Given the description of an element on the screen output the (x, y) to click on. 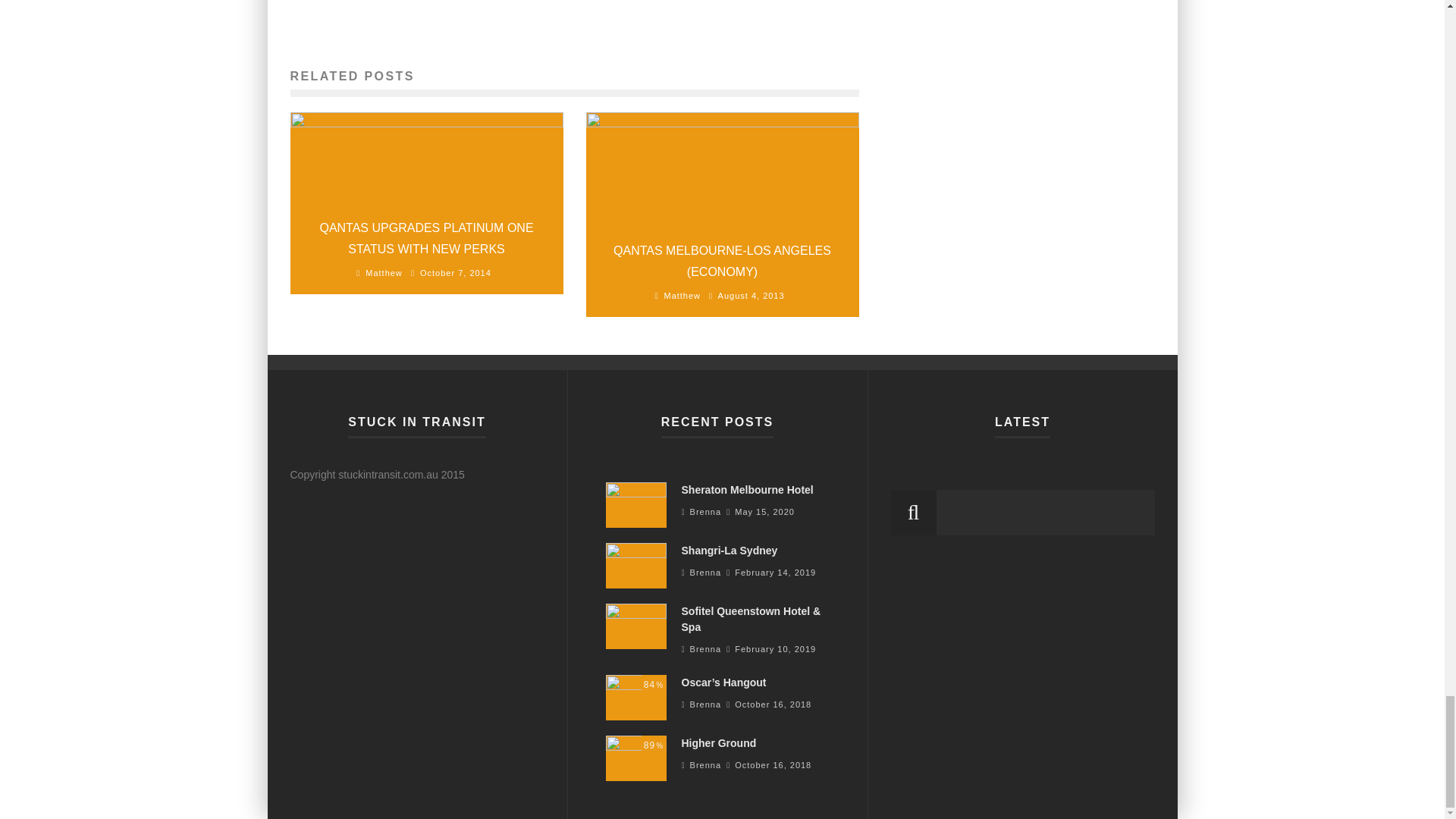
Matthew (384, 272)
QANTAS UPGRADES PLATINUM ONE STATUS WITH NEW PERKS (425, 237)
Matthew (681, 295)
